Given the description of an element on the screen output the (x, y) to click on. 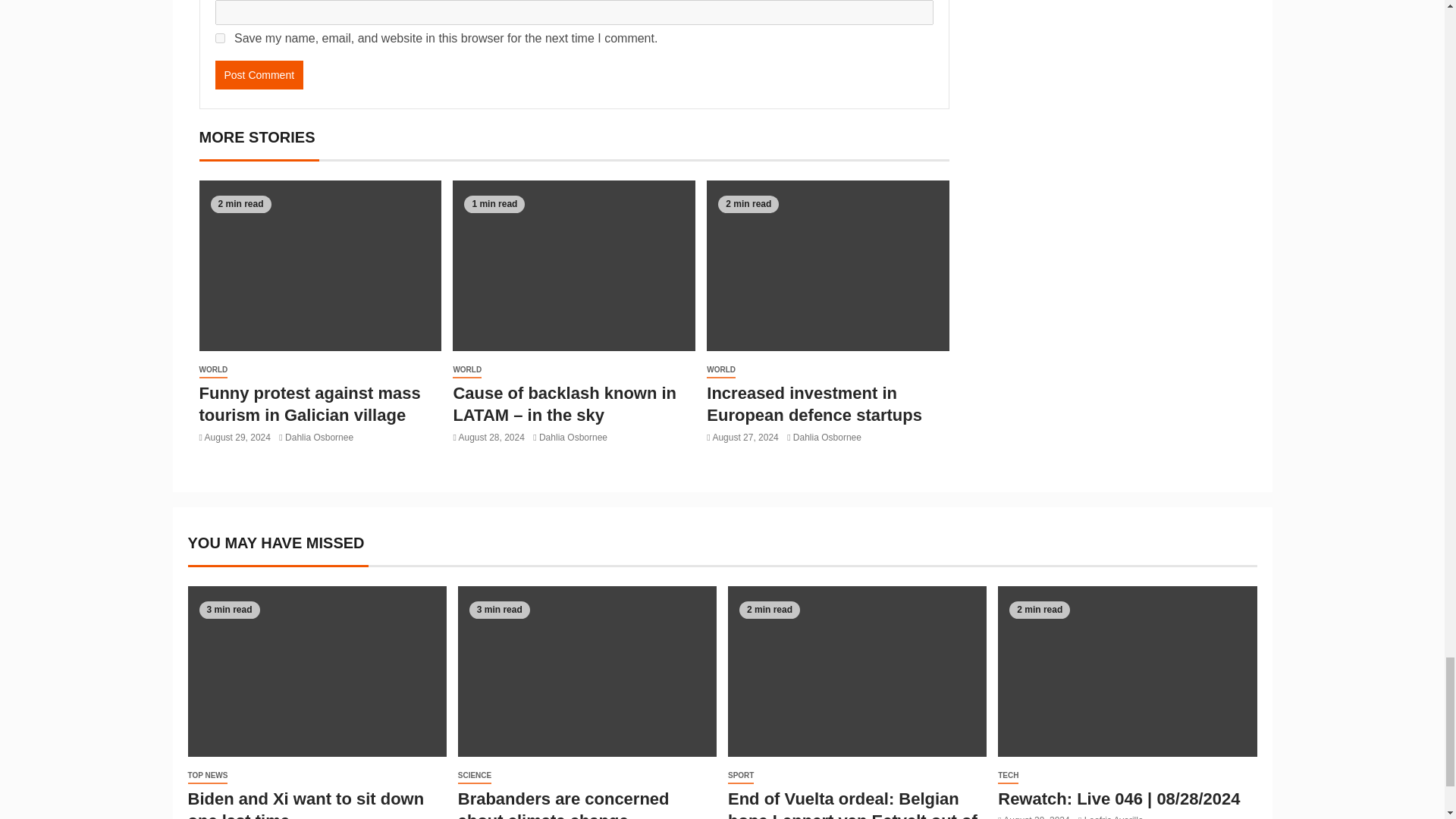
WORLD (212, 370)
Dahlia Osbornee (319, 437)
Post Comment (259, 74)
yes (220, 38)
Funny protest against mass tourism in Galician village (309, 404)
Post Comment (259, 74)
